Given the description of an element on the screen output the (x, y) to click on. 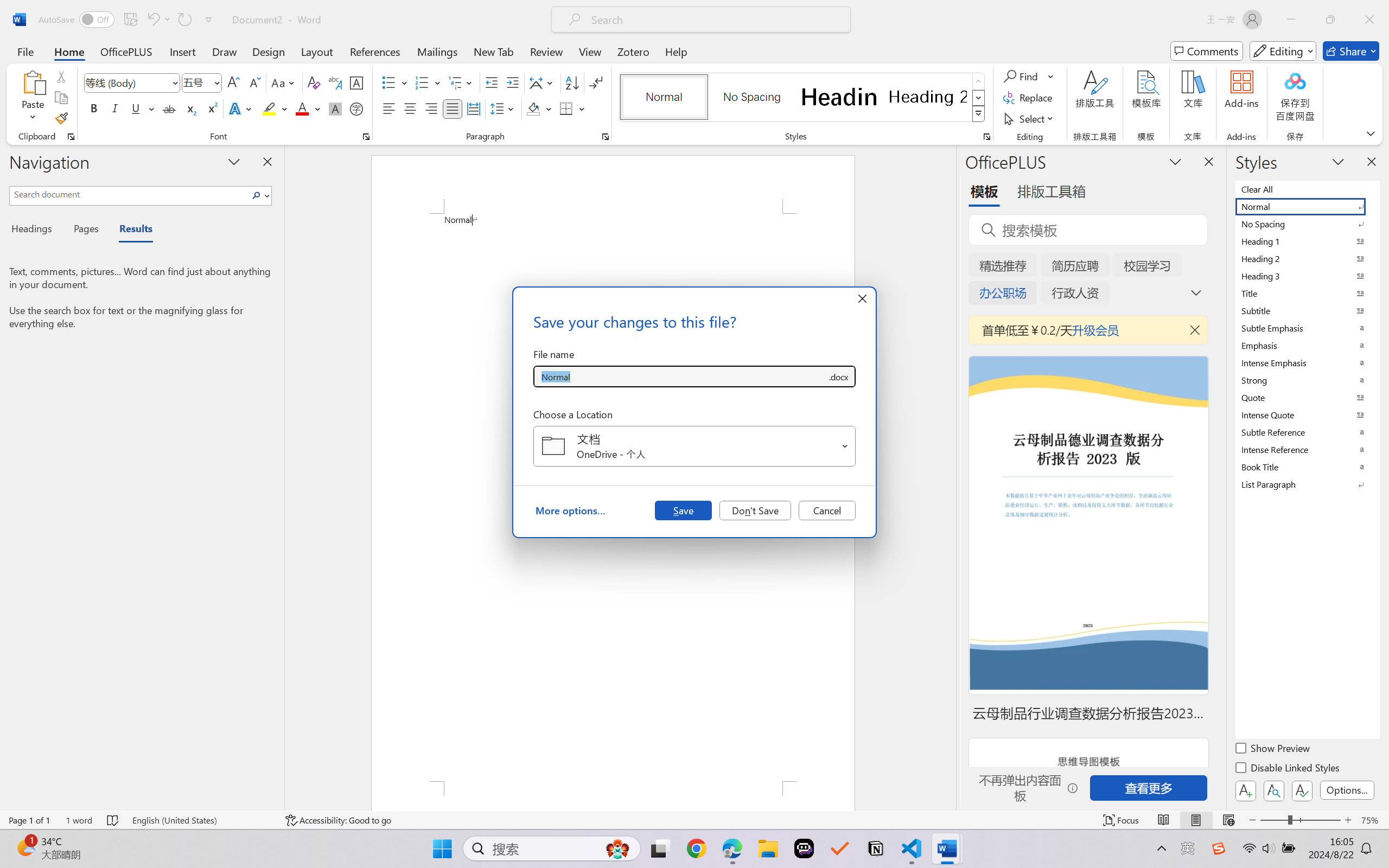
Draw (224, 51)
Distributed (473, 108)
Page Number Page 1 of 1 (29, 819)
Character Shading (334, 108)
Bold (94, 108)
Bullets (388, 82)
Shading RGB(0, 0, 0) (533, 108)
Select (1030, 118)
Class: NetUIScrollBar (948, 477)
Change Case (284, 82)
Title (1306, 293)
Print Layout (1196, 819)
Format Painter (60, 118)
